Given the description of an element on the screen output the (x, y) to click on. 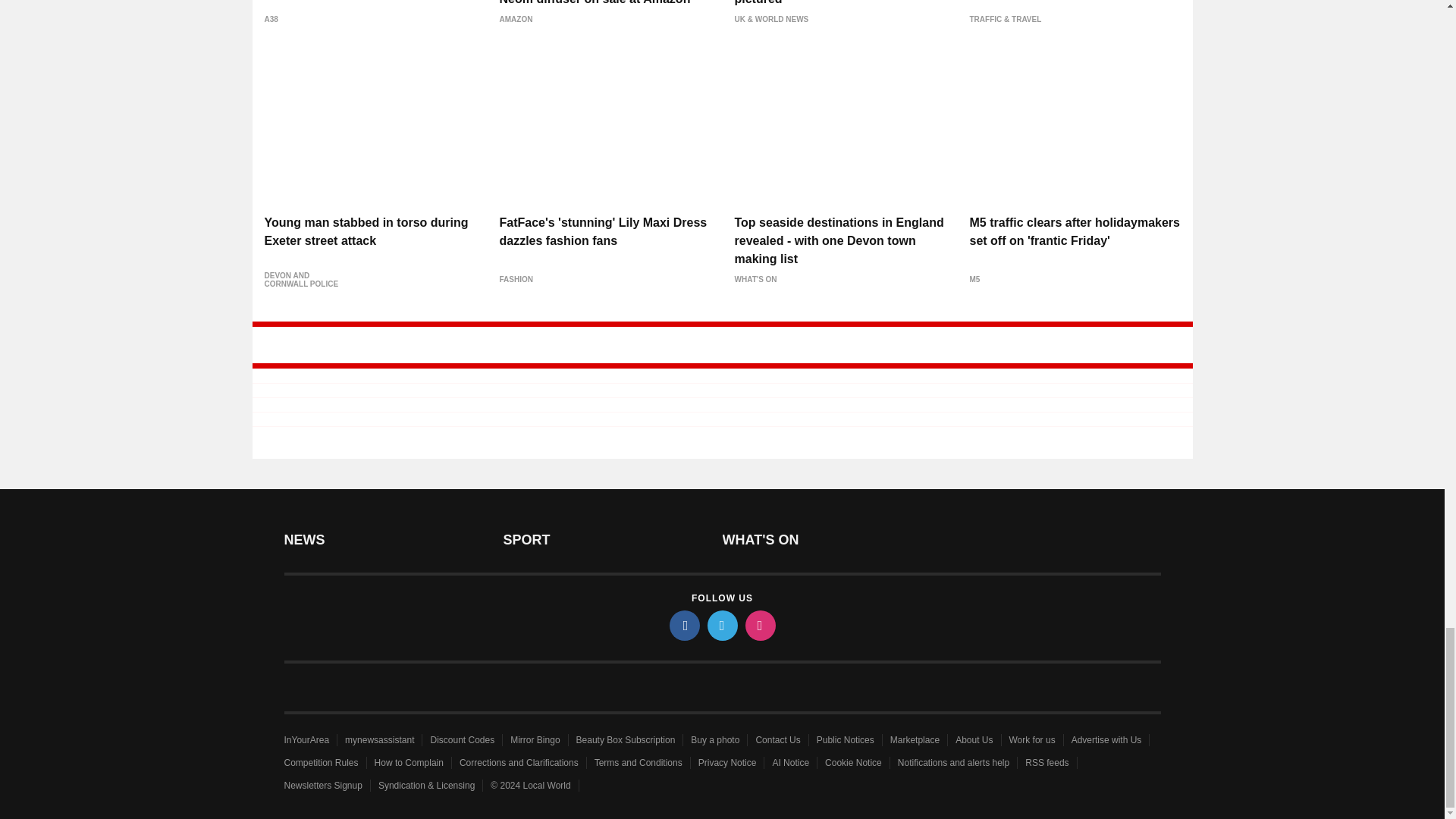
instagram (759, 625)
twitter (721, 625)
facebook (683, 625)
